Given the description of an element on the screen output the (x, y) to click on. 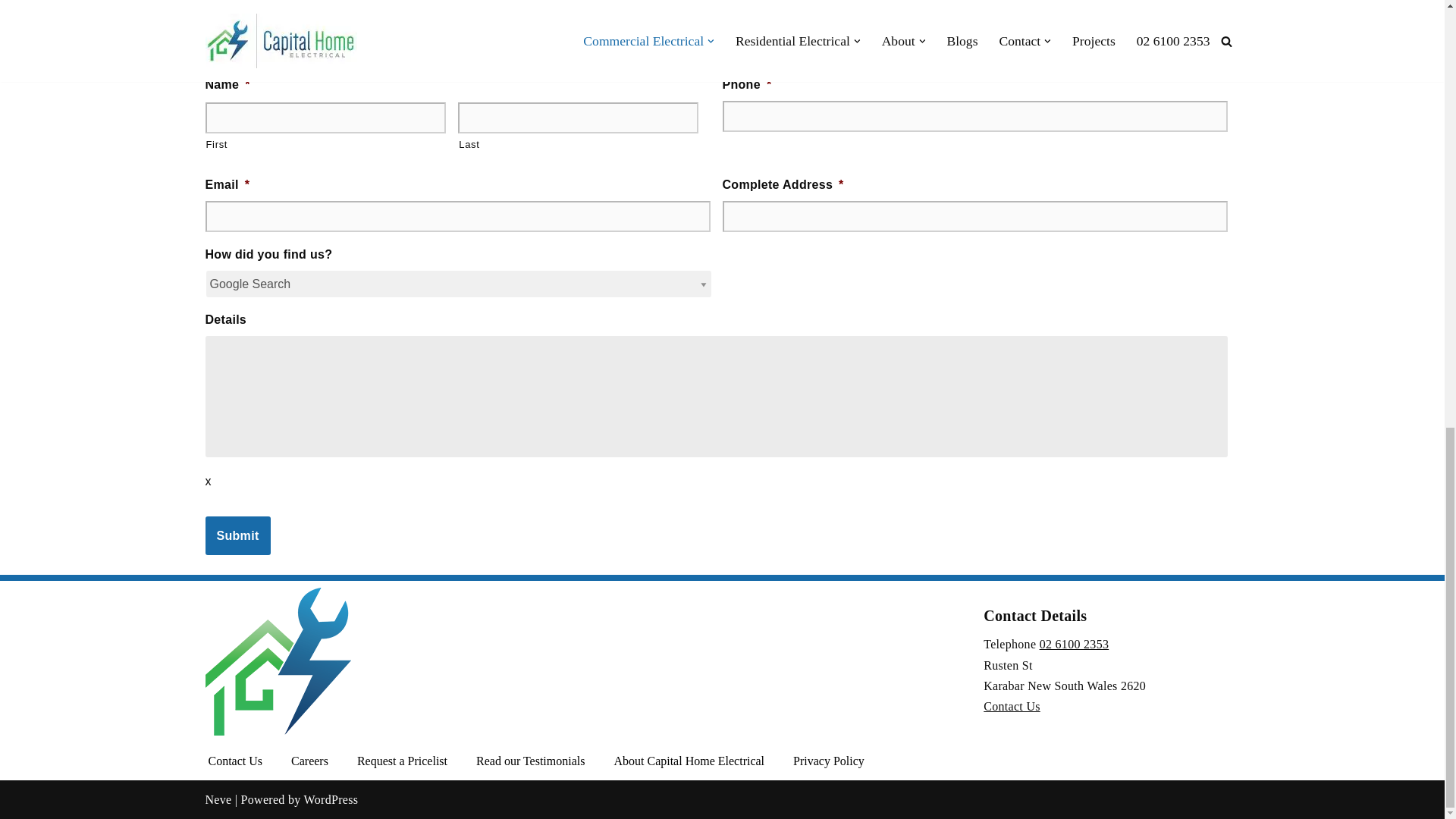
Capital Home Electrical Pricing (401, 761)
Contact Capital Home Electrical (235, 761)
Submit (237, 536)
Testimonials (530, 761)
